Given the description of an element on the screen output the (x, y) to click on. 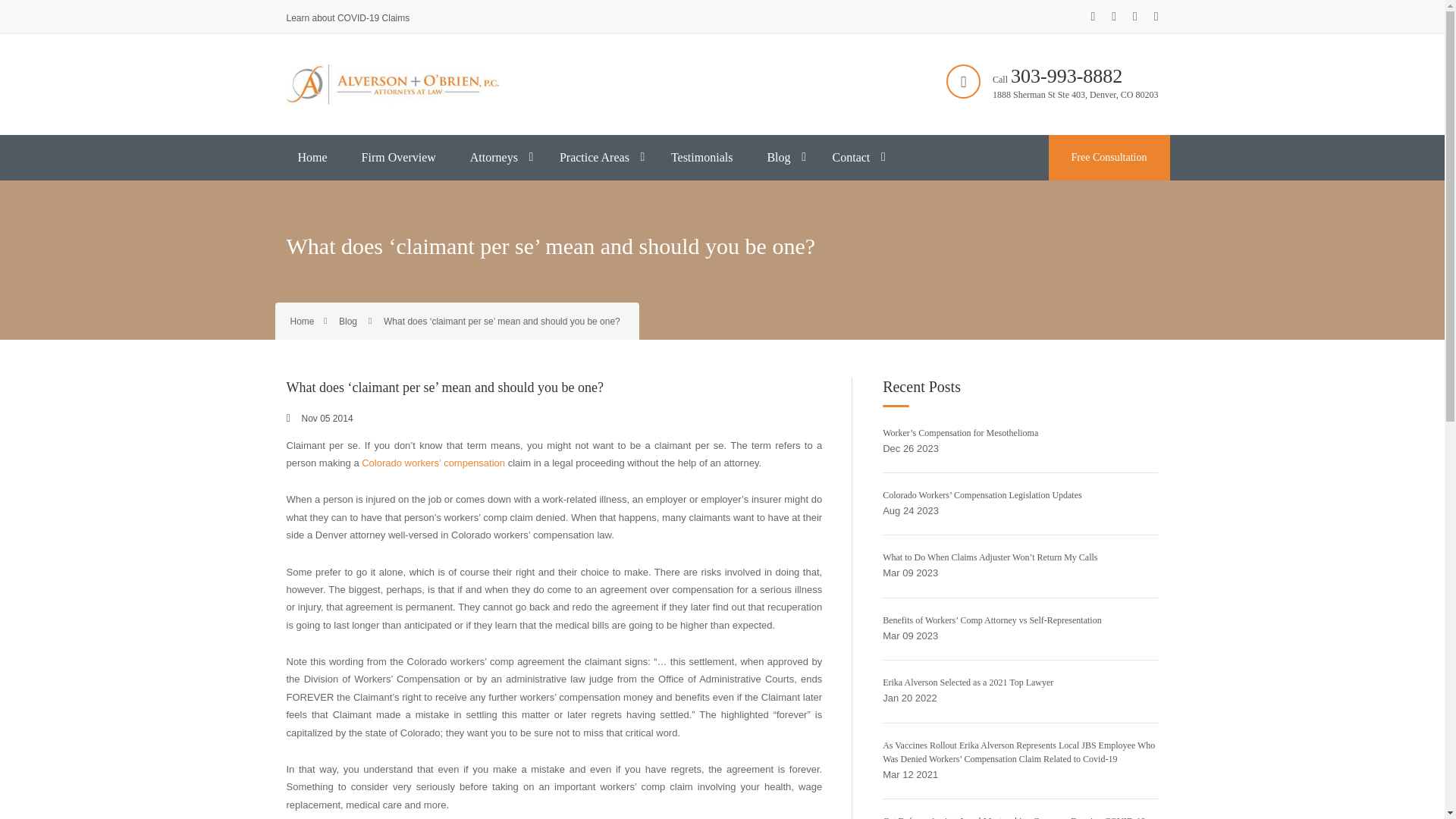
Learn about COVID-19 Claims (348, 18)
Firm Overview (398, 157)
Attorneys (493, 157)
Contact (851, 157)
303-993-8882 (1066, 75)
Free Consultation (1109, 157)
Testimonials (701, 157)
Home (312, 157)
Home (301, 321)
Practice Areas (594, 157)
